Given the description of an element on the screen output the (x, y) to click on. 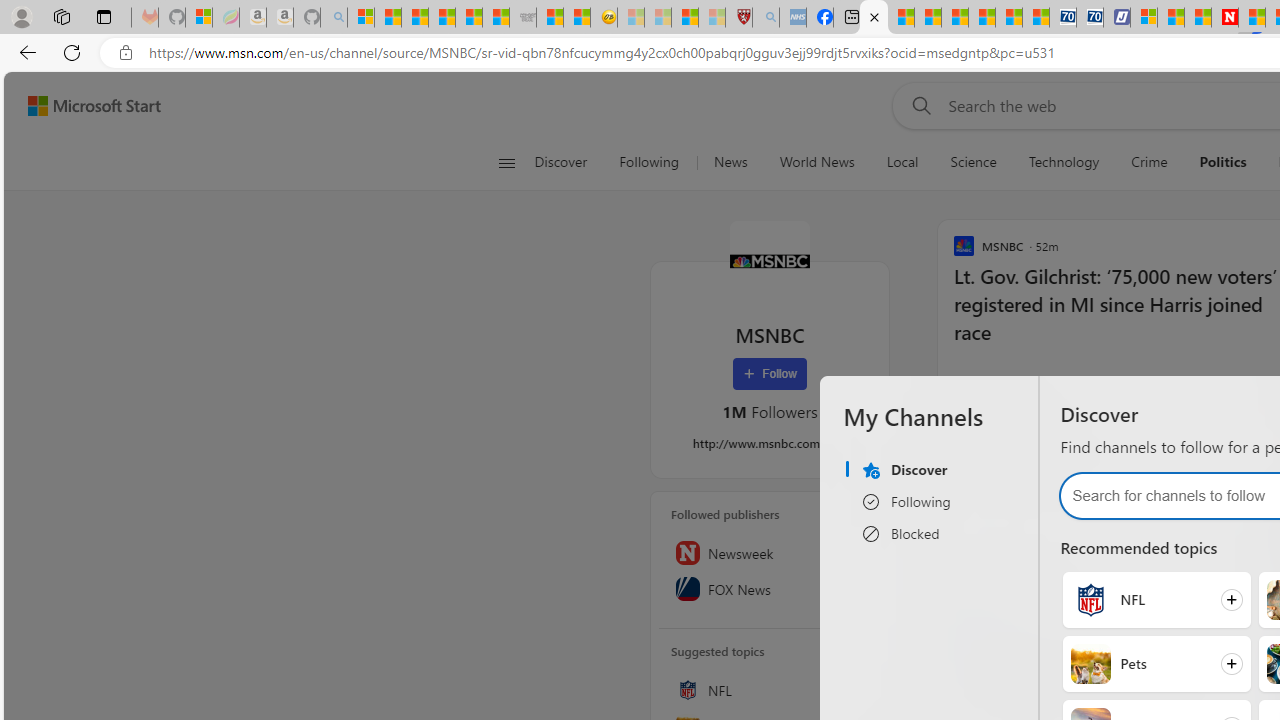
Cheap Hotels - Save70.com (1089, 17)
Newsweek (770, 552)
Web search (917, 105)
Start the conversation (1040, 384)
NCL Adult Asthma Inhaler Choice Guideline - Sleeping (792, 17)
Combat Siege (522, 17)
Cheap Car Rentals - Save70.com (1062, 17)
Stocks - MSN (495, 17)
Ad (969, 560)
